Given the description of an element on the screen output the (x, y) to click on. 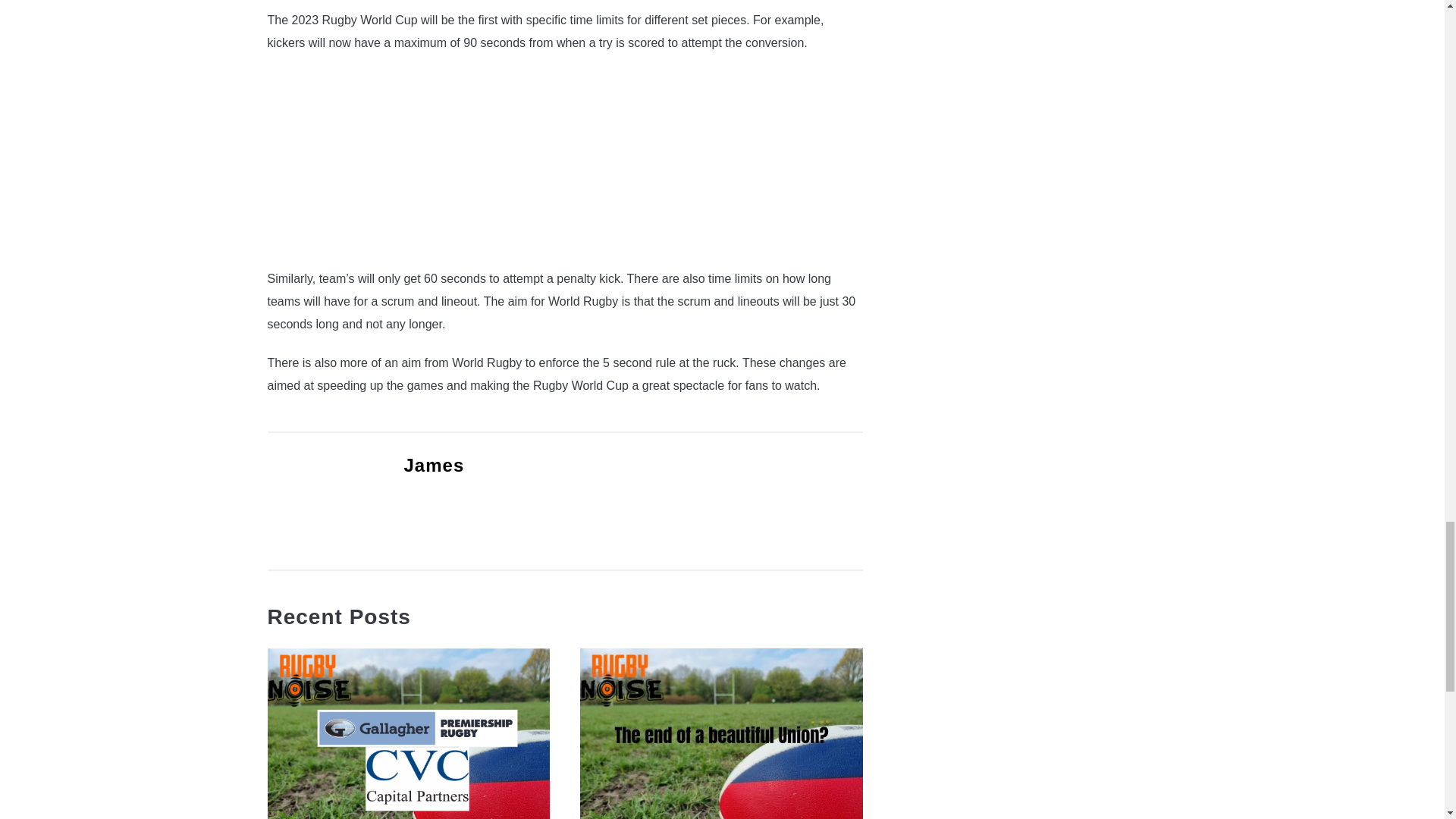
link to Is Rugby Union in Decline? (721, 733)
link to Who are the Gallagher Premiership sponsors? (408, 733)
James (433, 465)
